Given the description of an element on the screen output the (x, y) to click on. 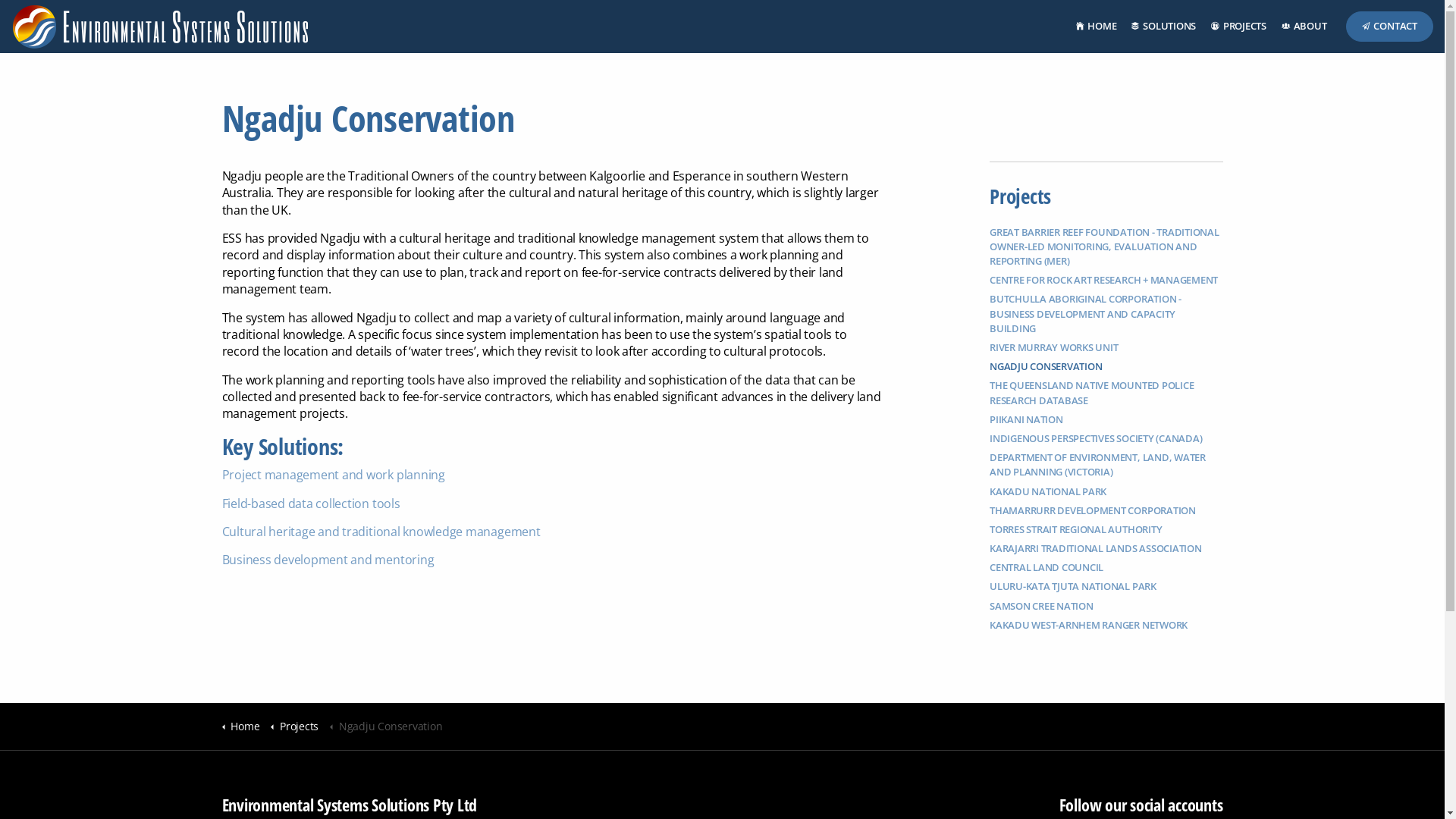
TORRES STRAIT REGIONAL AUTHORITY Element type: text (1106, 529)
Business development and mentoring  Element type: text (328, 559)
CENTRAL LAND COUNCIL Element type: text (1106, 567)
CENTRE FOR ROCK ART RESEARCH + MANAGEMENT Element type: text (1106, 280)
Skip to main content Element type: text (721, 14)
ULURU-KATA TJUTA NATIONAL PARK Element type: text (1106, 586)
Projects Element type: text (294, 726)
PIIKANI NATION Element type: text (1106, 419)
Project management and work planning Element type: text (332, 474)
SOLUTIONS Element type: text (1163, 26)
Environmental Systems Solutions Element type: text (160, 26)
Home Element type: text (240, 726)
KAKADU WEST-ARNHEM RANGER NETWORK Element type: text (1106, 625)
ABOUT Element type: text (1304, 26)
SAMSON CREE NATION Element type: text (1106, 606)
HOME Element type: text (1096, 26)
Cultural heritage and traditional knowledge management Element type: text (380, 531)
RIVER MURRAY WORKS UNIT Element type: text (1106, 347)
THE QUEENSLAND NATIVE MOUNTED POLICE RESEARCH DATABASE Element type: text (1106, 392)
Field-based data collection tools Element type: text (310, 503)
PROJECTS Element type: text (1238, 26)
KARAJARRI TRADITIONAL LANDS ASSOCIATION Element type: text (1106, 548)
Projects Element type: text (1020, 196)
NGADJU CONSERVATION Element type: text (1106, 366)
INDIGENOUS PERSPECTIVES SOCIETY (CANADA) Element type: text (1106, 438)
THAMARRURR DEVELOPMENT CORPORATION Element type: text (1106, 510)
KAKADU NATIONAL PARK Element type: text (1106, 491)
CONTACT Element type: text (1389, 26)
